Given the description of an element on the screen output the (x, y) to click on. 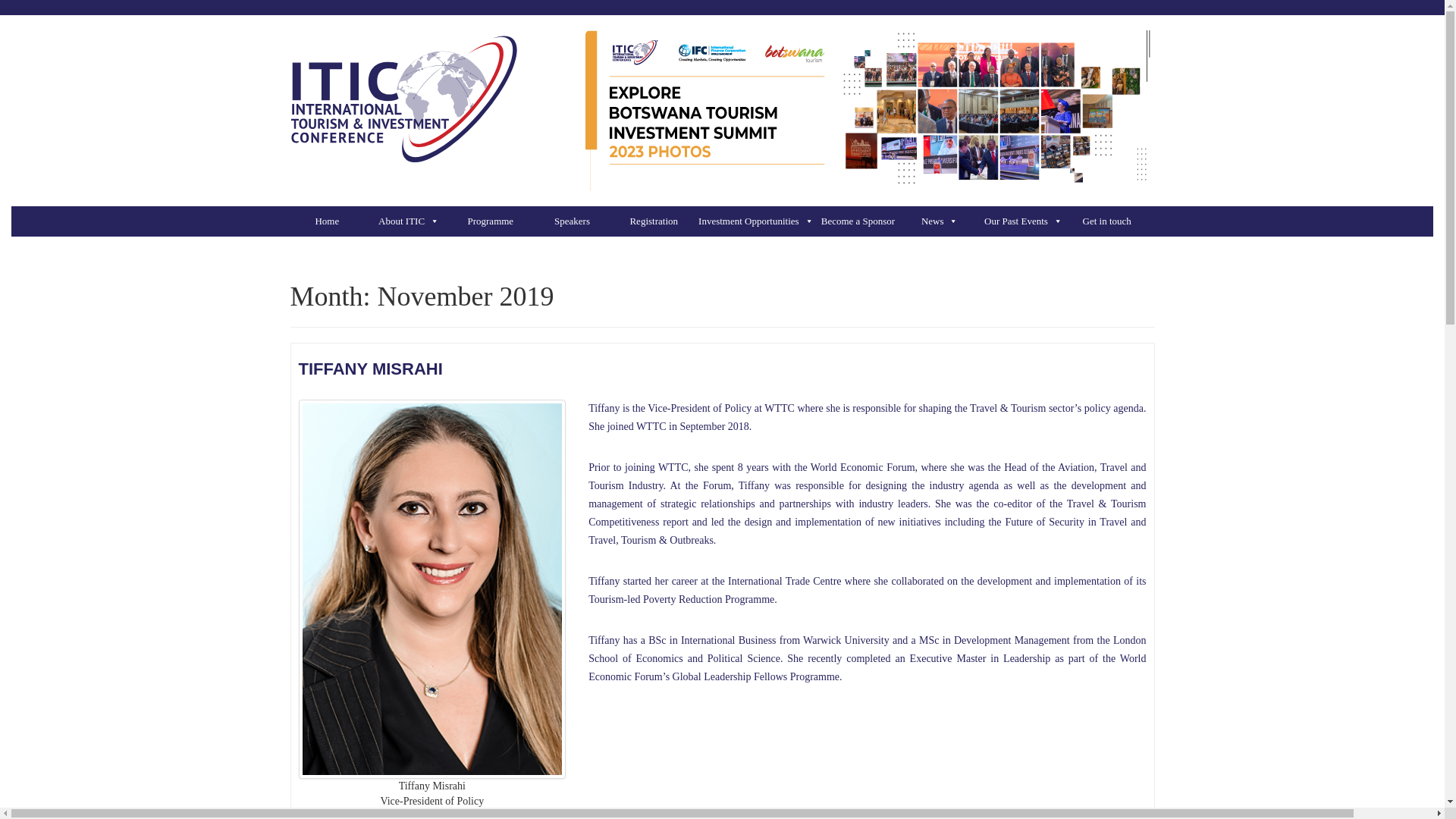
Become a Sponsor (861, 221)
About ITIC (411, 221)
Speakers (576, 221)
Our Past Events (1027, 221)
Registration (656, 221)
Investment Opportunities (759, 221)
News (943, 221)
Home (330, 221)
Programme (493, 221)
